Given the description of an element on the screen output the (x, y) to click on. 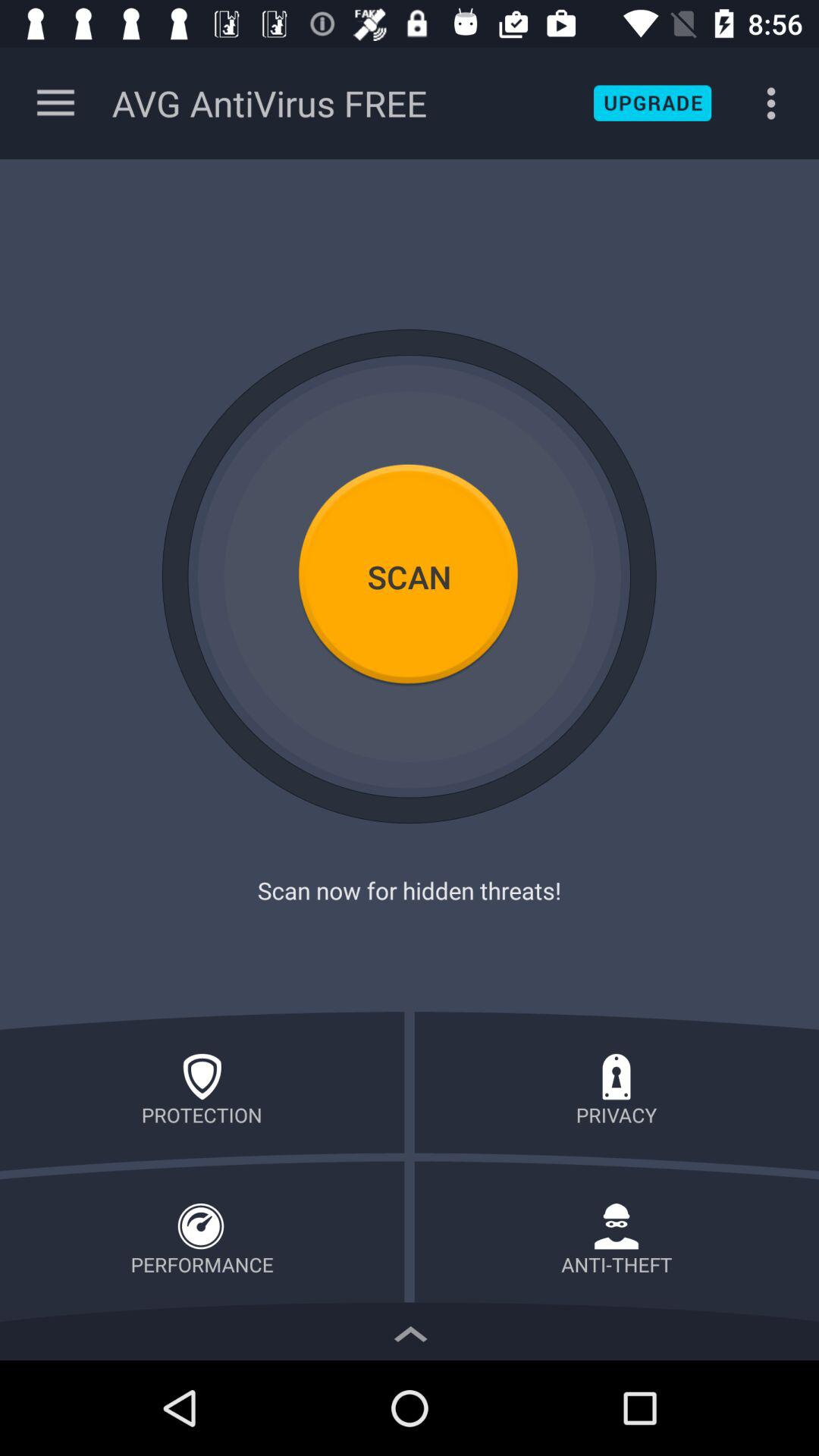
upgrade app (652, 103)
